Given the description of an element on the screen output the (x, y) to click on. 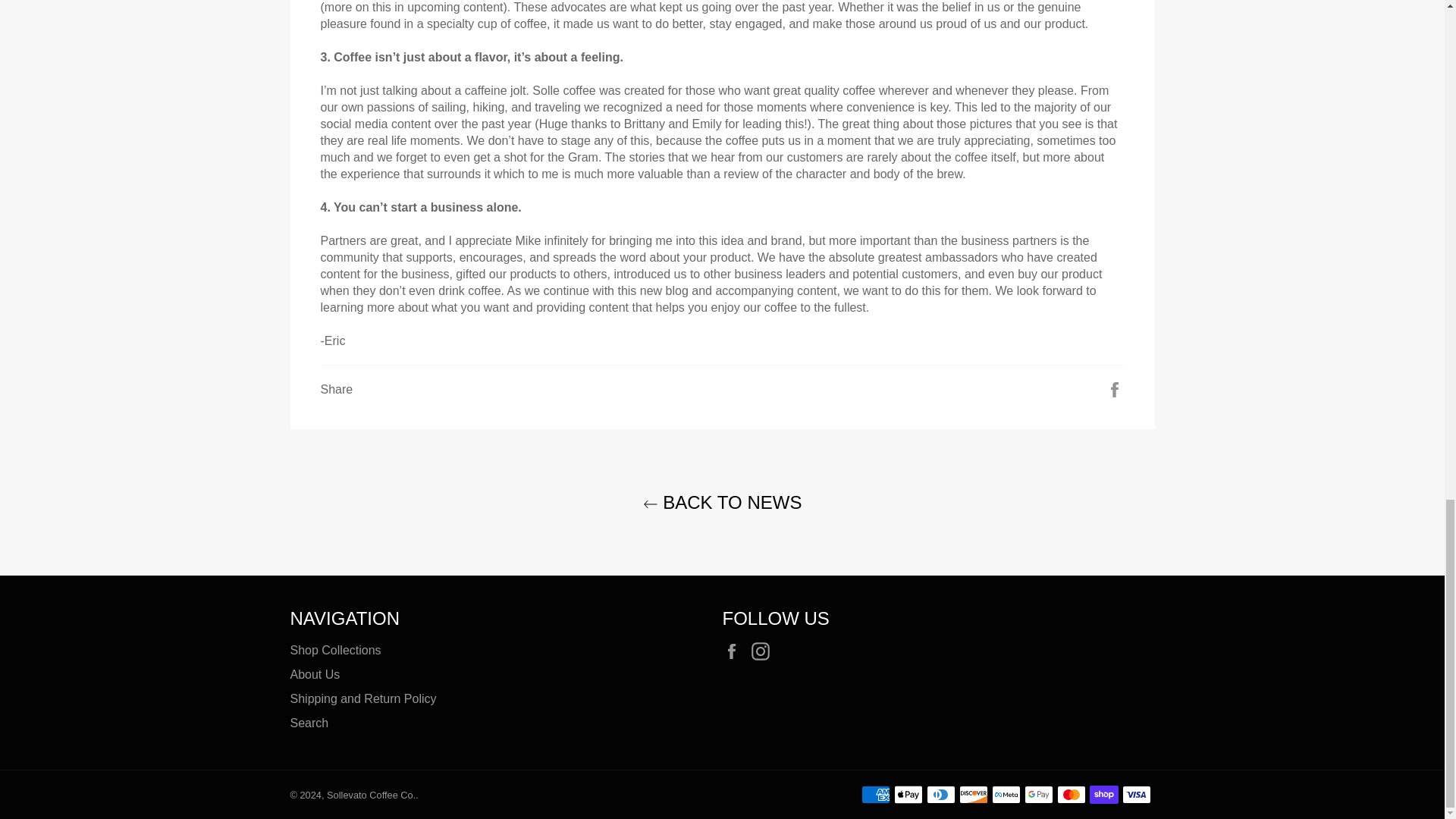
Sollevato Coffee Co. on Instagram (764, 651)
Sollevato Coffee Co. on Facebook (735, 651)
Share on Facebook (1114, 388)
